Given the description of an element on the screen output the (x, y) to click on. 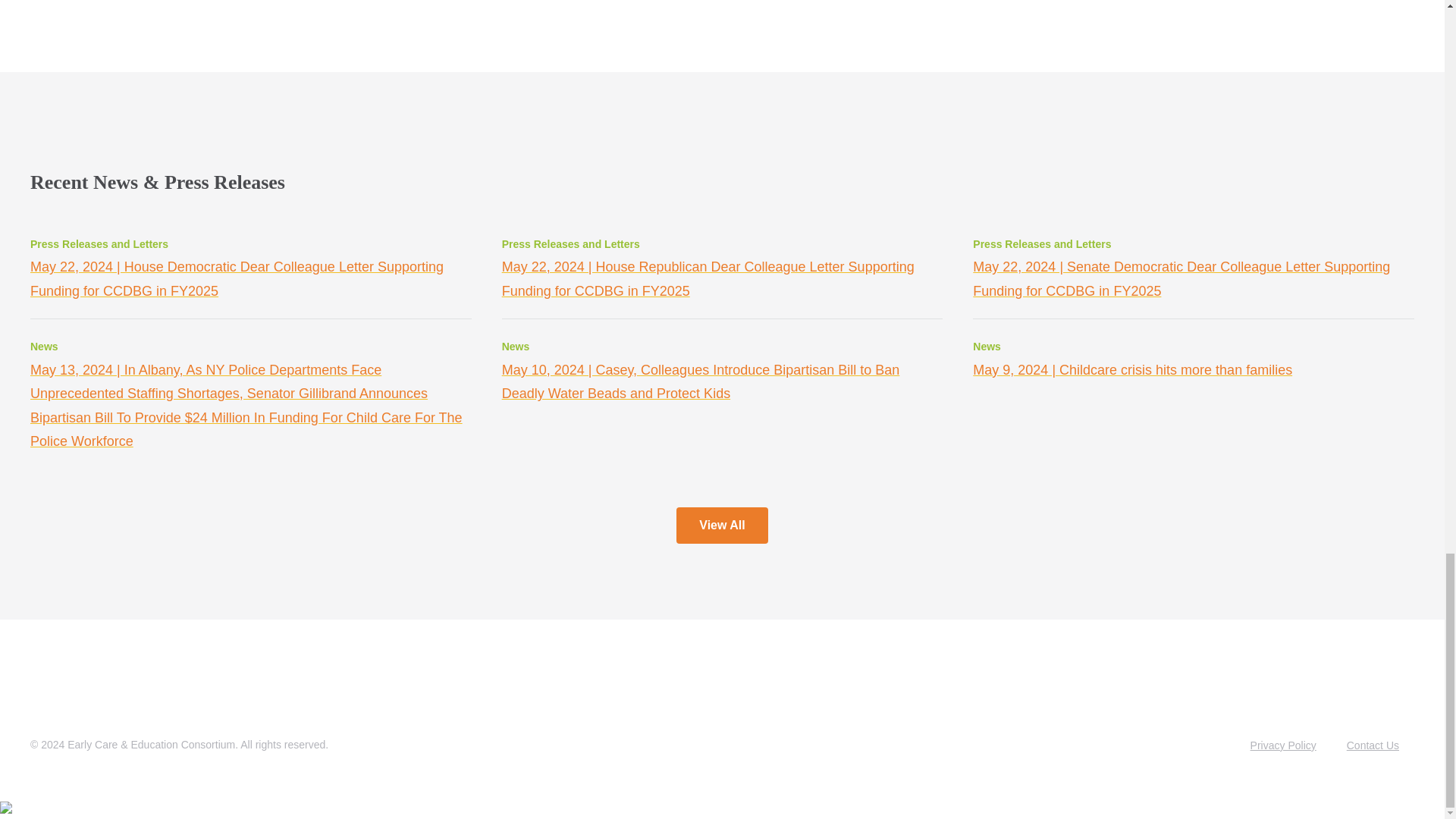
View All (722, 524)
Privacy Policy (1283, 745)
Contact Us (1372, 745)
